Given the description of an element on the screen output the (x, y) to click on. 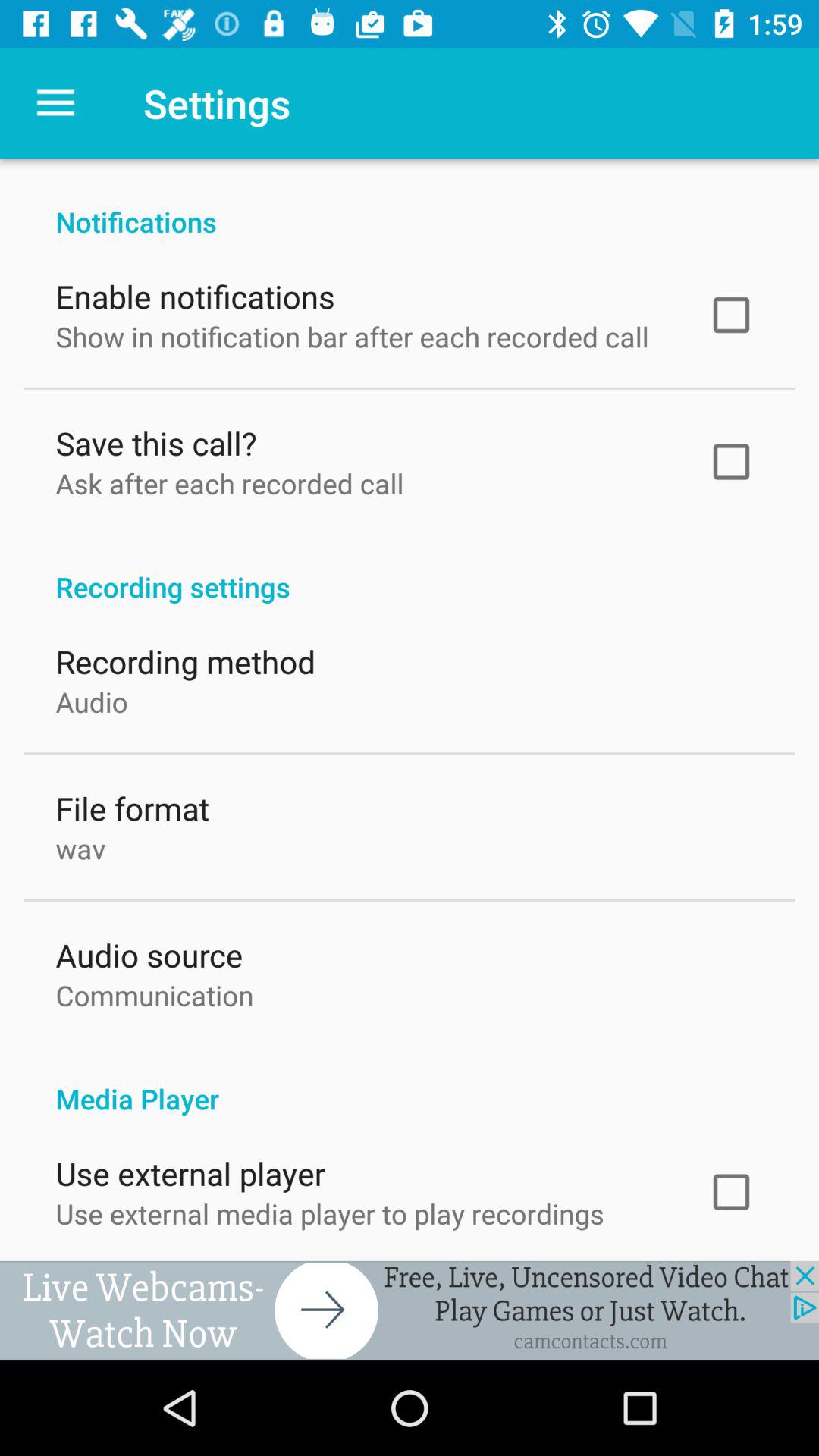
open the item above ask after each (155, 439)
